Given the description of an element on the screen output the (x, y) to click on. 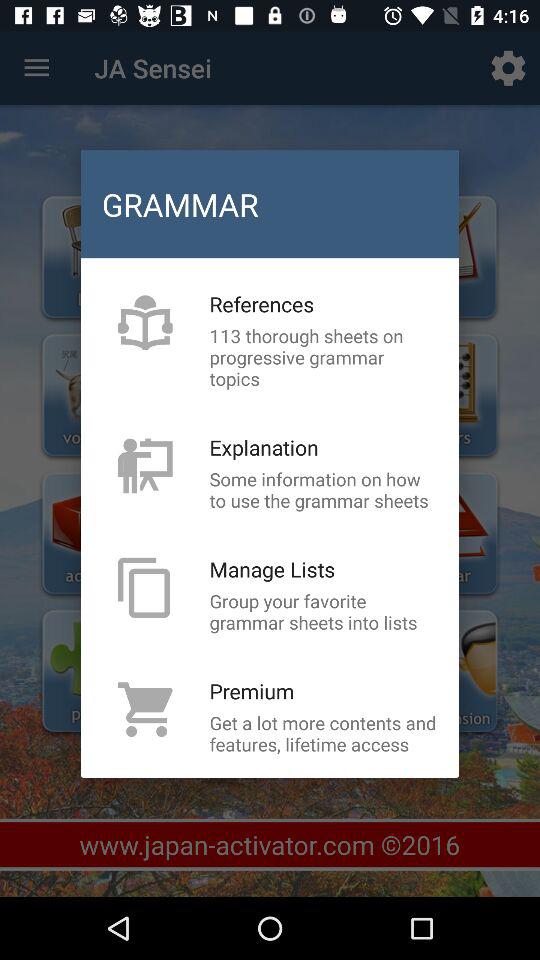
press item below the grammar (261, 303)
